Given the description of an element on the screen output the (x, y) to click on. 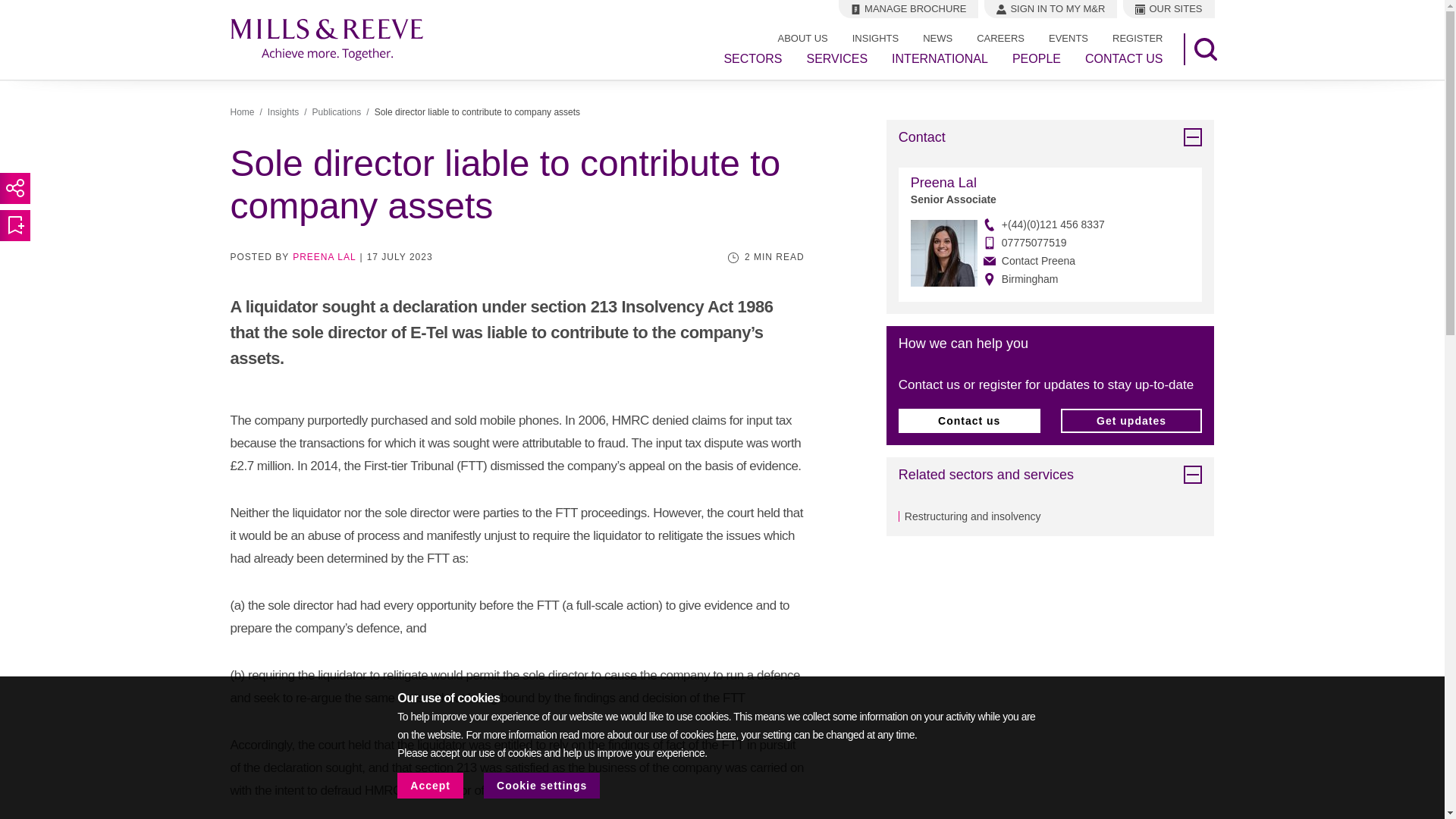
SECTORS (752, 58)
CAREERS (999, 37)
OUR SITES (1168, 9)
Call Preena (1044, 242)
INTERNATIONAL (939, 58)
REGISTER (1137, 37)
Contact Preena (1044, 261)
Home (242, 112)
Publications (337, 112)
INSIGHTS (875, 37)
